Given the description of an element on the screen output the (x, y) to click on. 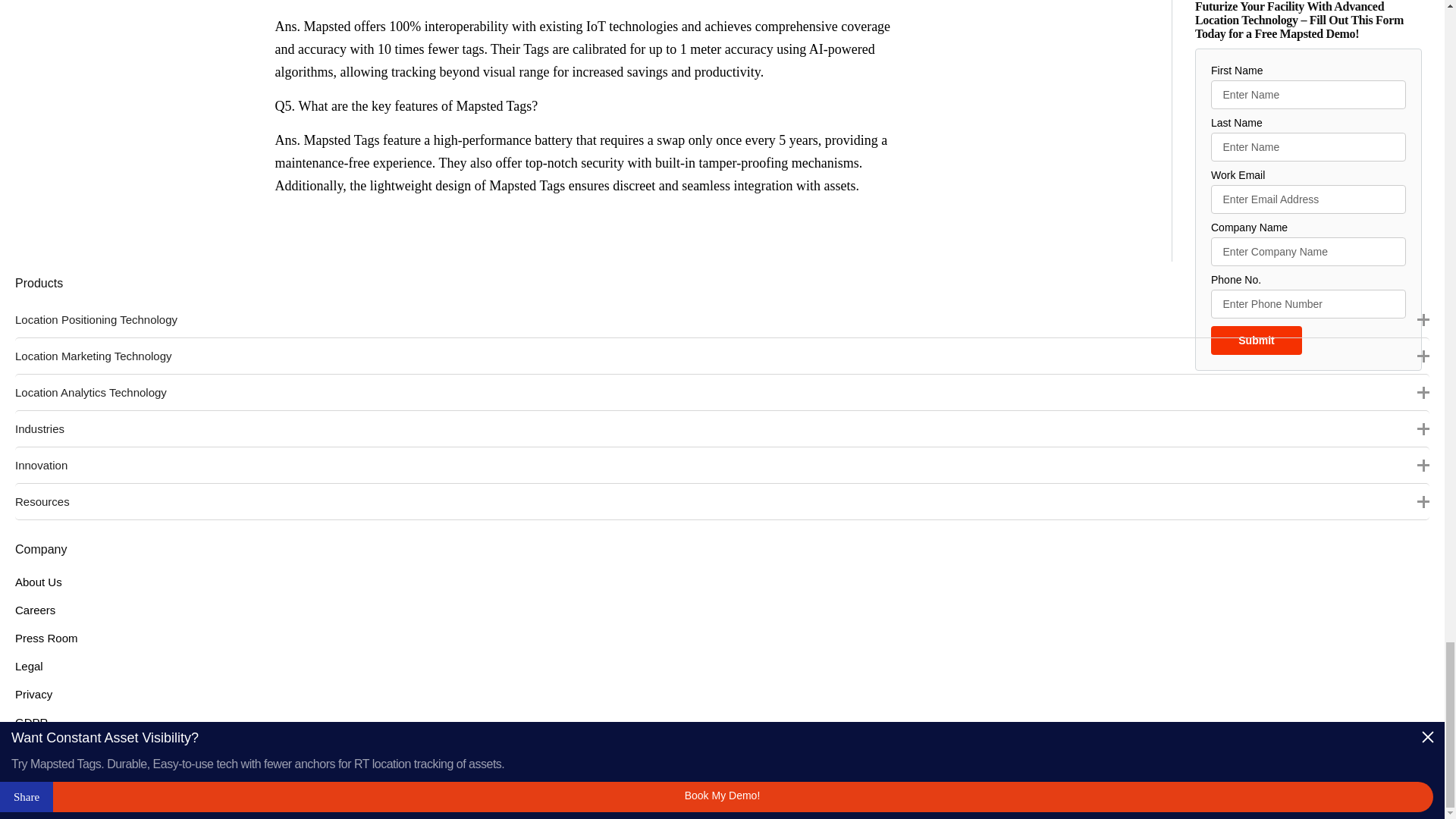
Industries (721, 428)
Location Positioning Technology (721, 319)
Location Marketing Technology (721, 355)
Location Analytics Technology (721, 391)
